Given the description of an element on the screen output the (x, y) to click on. 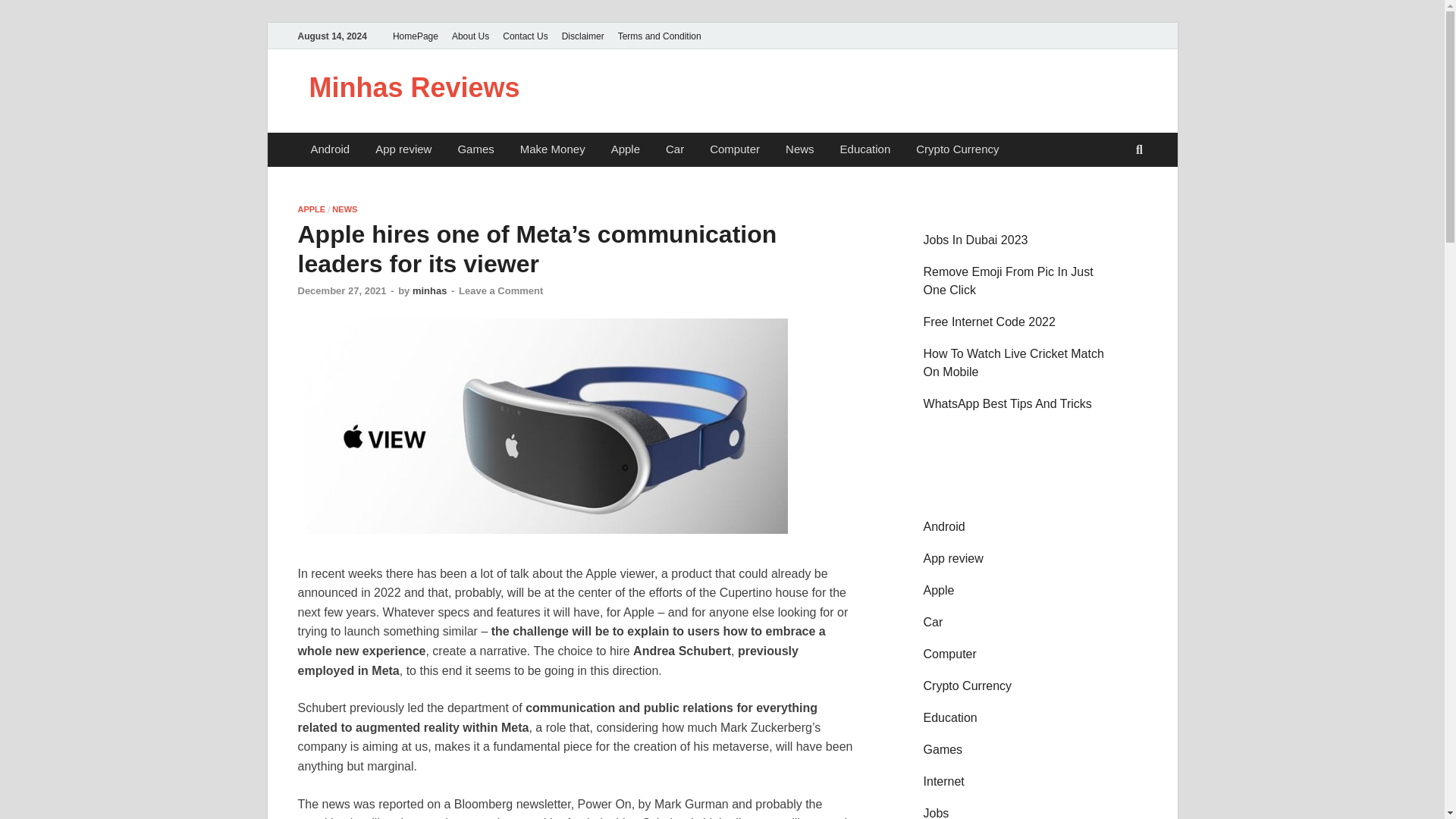
Minhas Reviews (413, 87)
APPLE (310, 208)
December 27, 2021 (341, 290)
Education (865, 149)
Crypto Currency (956, 149)
HomePage (415, 35)
News (800, 149)
Leave a Comment (500, 290)
NEWS (343, 208)
Make Money (552, 149)
